Given the description of an element on the screen output the (x, y) to click on. 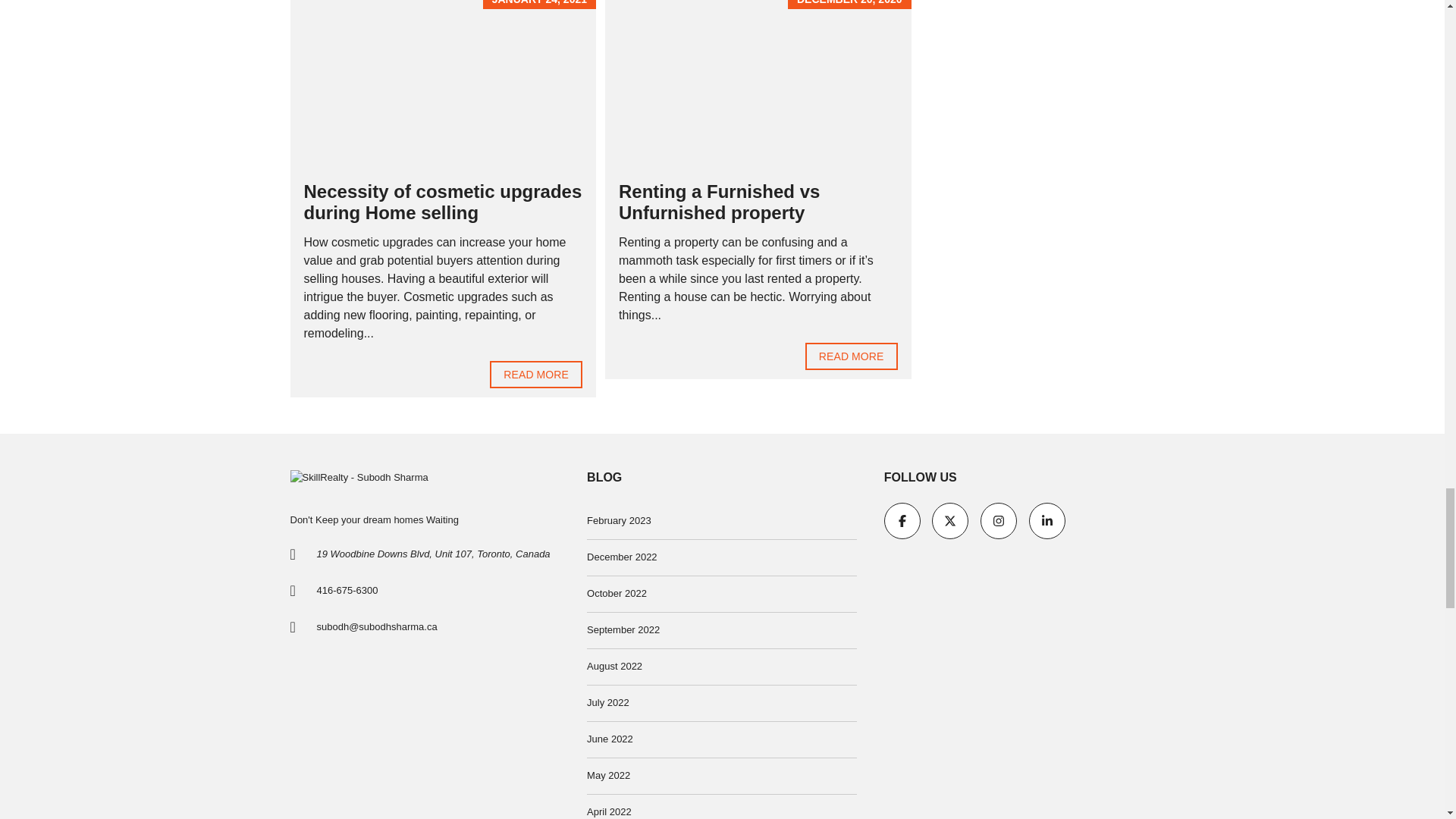
Necessity of cosmetic upgrades during Home selling (441, 201)
Necessity of cosmetic upgrades during Home selling (441, 201)
Necessity of cosmetic upgrades during Home selling (535, 374)
Renting a Furnished vs Unfurnished property (851, 356)
JANUARY 24, 2021 (442, 85)
Renting a Furnished vs Unfurnished property (718, 201)
